Given the description of an element on the screen output the (x, y) to click on. 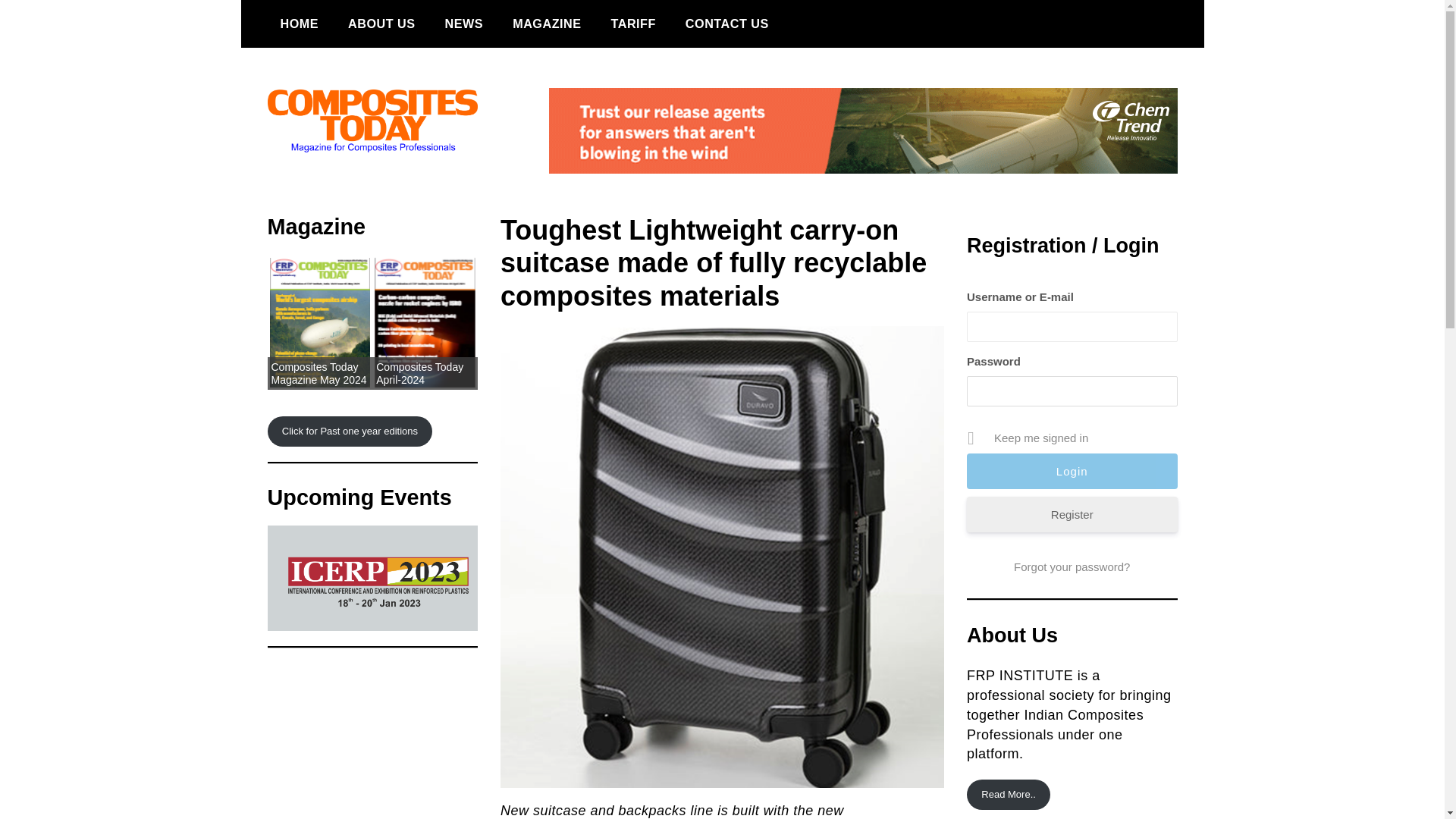
ABOUT US (381, 23)
Forgot your password? (1071, 566)
Register (1071, 514)
MAGAZINE (546, 23)
Login (1071, 470)
Login (1071, 470)
CONTACT US (727, 23)
TARIFF (632, 23)
Read More.. (1007, 794)
Composites Today April-2024 (419, 373)
Click for Past one year editions (349, 431)
HOME (298, 23)
Composites Today (346, 196)
NEWS (464, 23)
Composites Today Magazine May 2024 (318, 373)
